Given the description of an element on the screen output the (x, y) to click on. 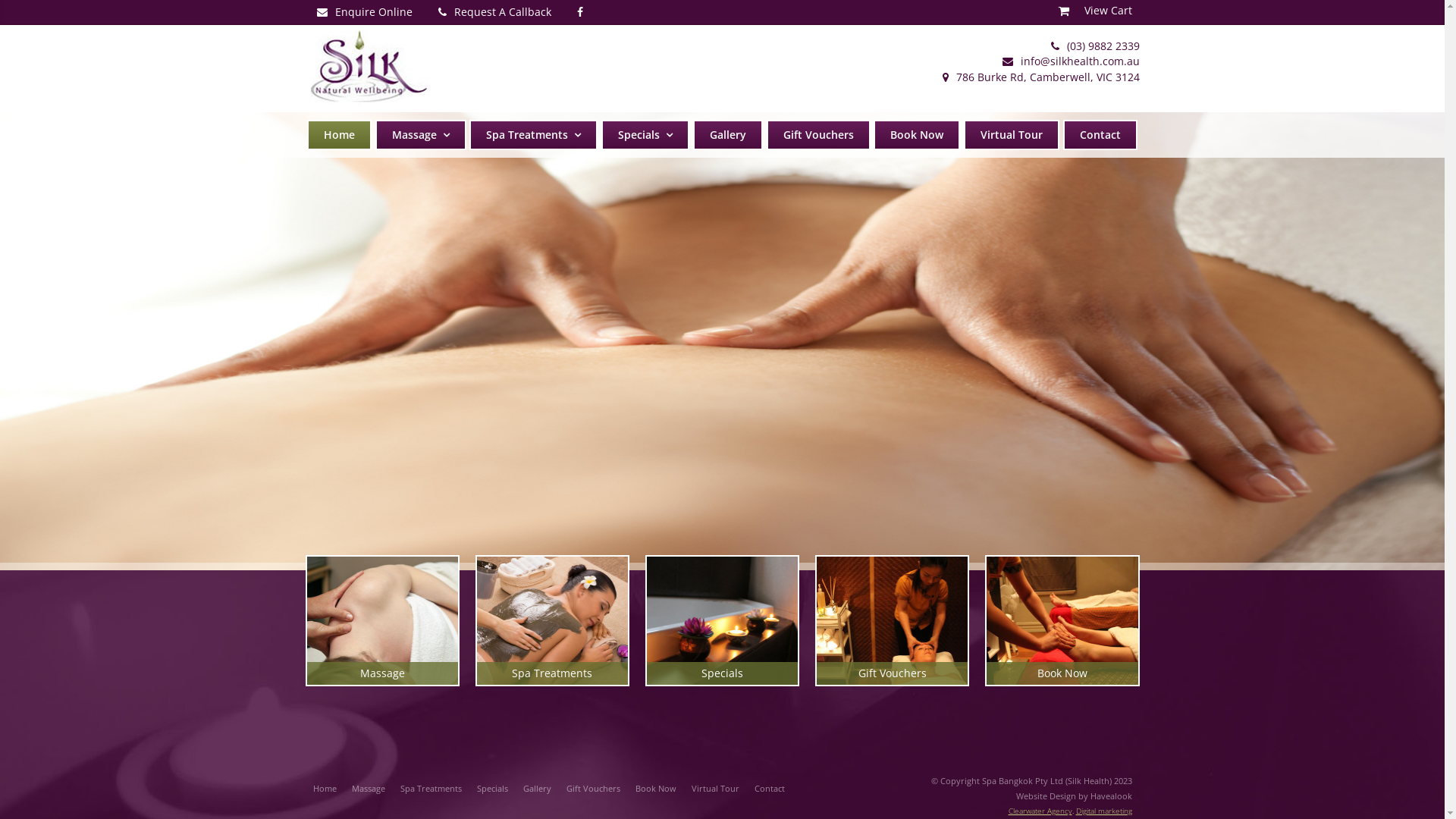
Digital marketing Element type: text (1103, 810)
Gift Vouchers Element type: text (818, 134)
Specials Element type: text (491, 788)
Request A Callback Element type: text (493, 11)
Gift Vouchers Element type: text (592, 788)
info@silkhealth.com.au Element type: text (1070, 60)
Contact Element type: text (768, 788)
Book Now Element type: text (1062, 620)
Contact Element type: text (1100, 134)
Home Element type: text (339, 134)
Gallery Element type: text (536, 788)
Massage Element type: text (368, 788)
Website Design Element type: text (1046, 795)
Spa Treatments Element type: text (430, 788)
Virtual Tour Element type: text (715, 788)
Specials Element type: text (722, 620)
Clearwater Agency Element type: text (1040, 810)
Massage Element type: text (420, 134)
Spa Treatments Element type: text (533, 134)
Virtual Tour Element type: text (1011, 134)
Enquire Online Element type: text (363, 11)
Gift Vouchers Element type: text (892, 620)
Book Now Element type: text (916, 134)
Spa Treatments Element type: text (552, 620)
Home Element type: text (323, 788)
Massage Element type: text (381, 620)
Gallery Element type: text (727, 134)
Book Now Element type: text (655, 788)
Specials Element type: text (645, 134)
